Given the description of an element on the screen output the (x, y) to click on. 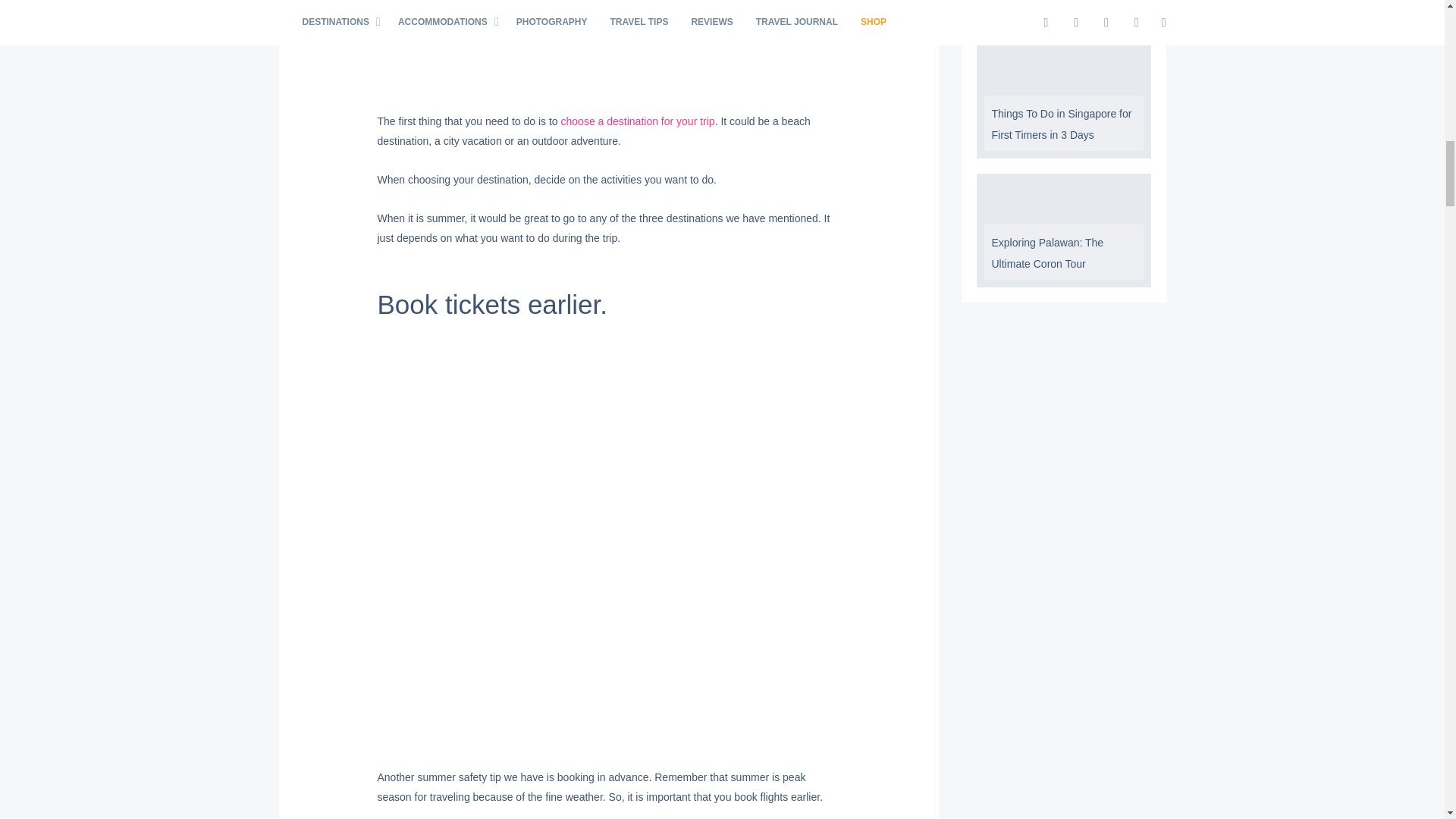
How Traveling Changed Me (1063, 11)
Things To Do in Singapore for First Timers in 3 Days (1063, 122)
Exploring Palawan: The Ultimate Coron Tour (1063, 252)
choose a destination for your trip (637, 121)
